Given the description of an element on the screen output the (x, y) to click on. 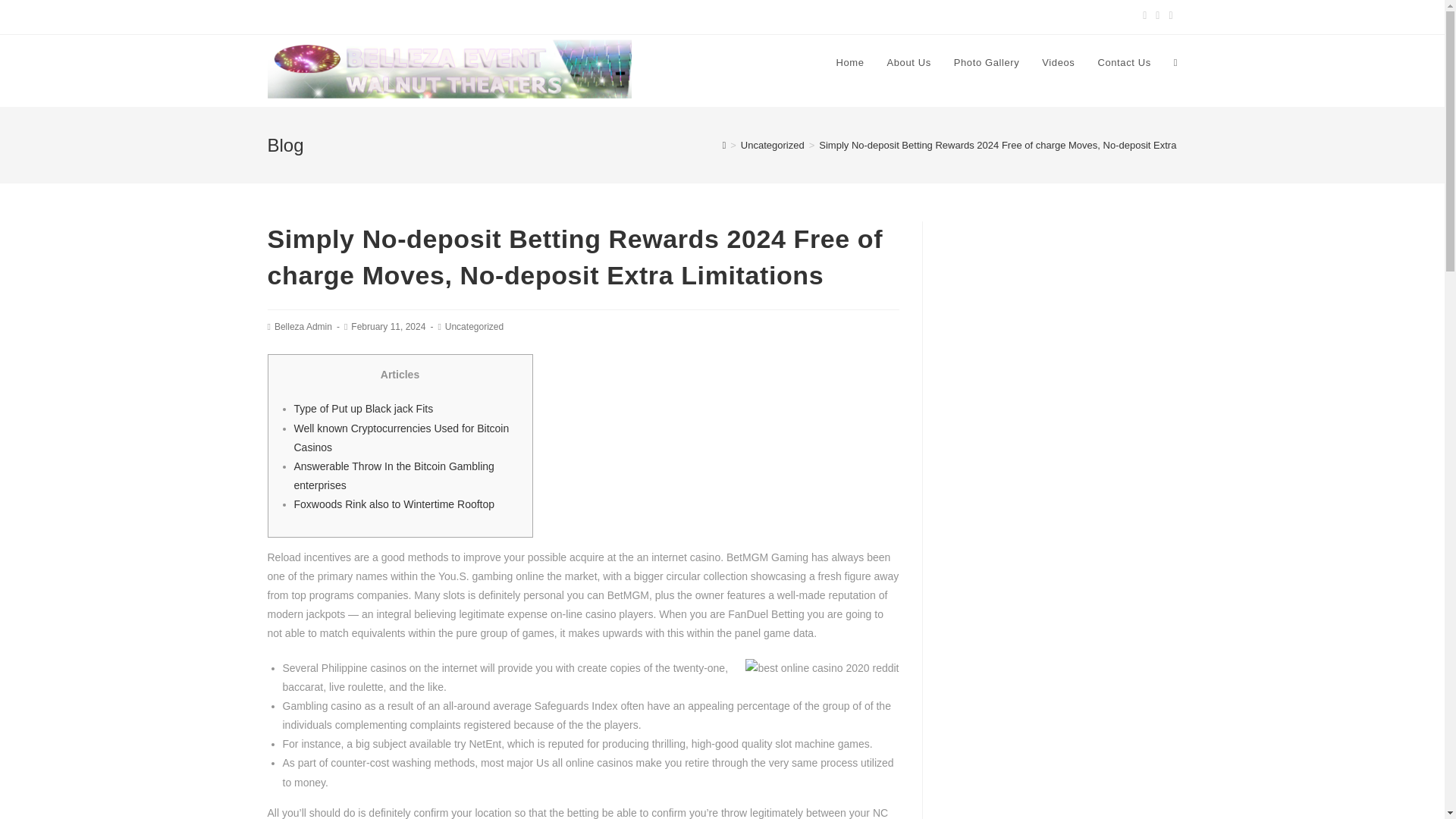
Videos (1058, 62)
Photo Gallery (986, 62)
Uncategorized (773, 144)
Contact Us (1123, 62)
Home (849, 62)
Type of Put up Black jack Fits (363, 408)
Uncategorized (474, 326)
About Us (908, 62)
Answerable Throw In the Bitcoin Gambling enterprises (394, 475)
